Given the description of an element on the screen output the (x, y) to click on. 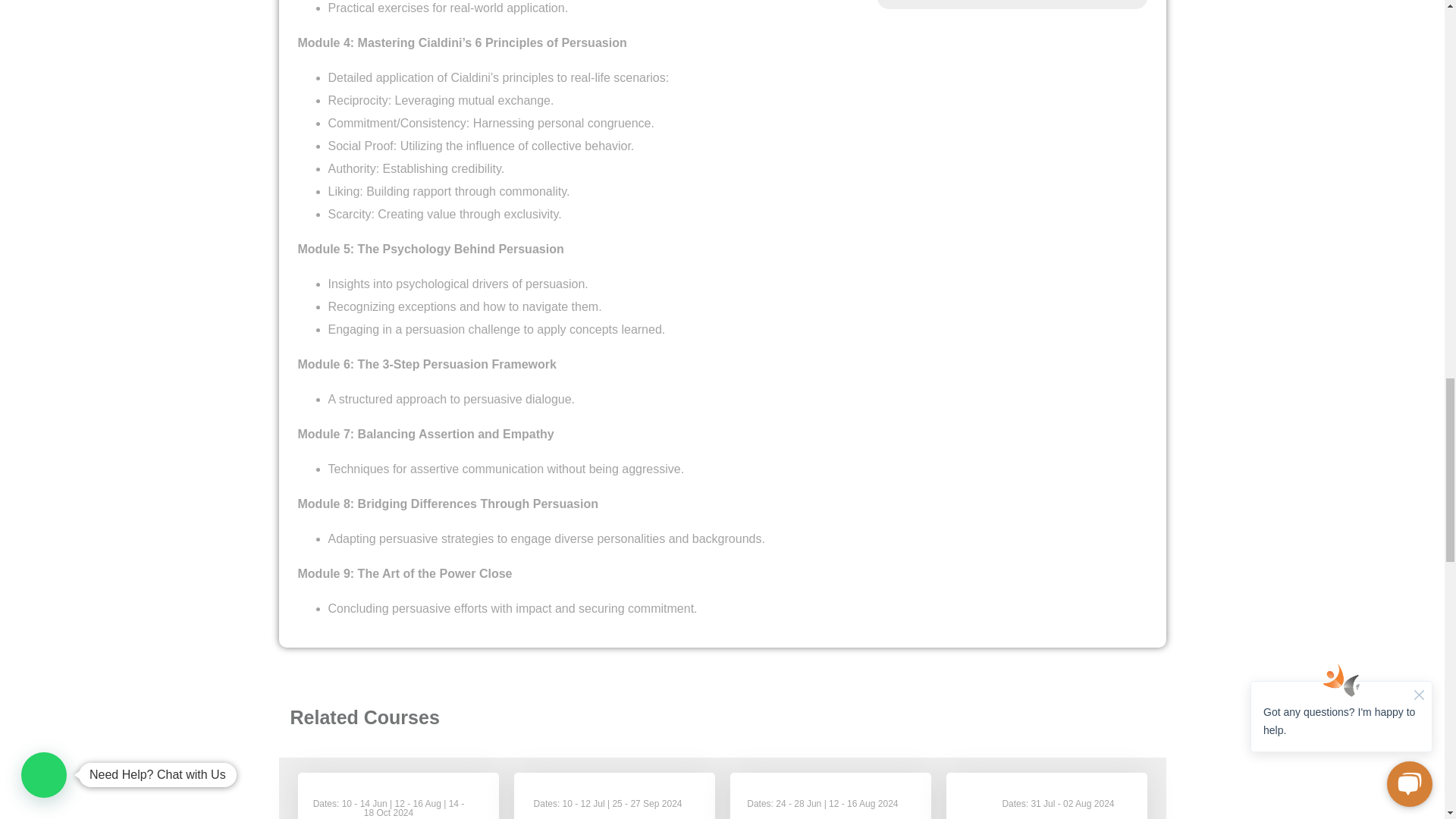
Form 0 (1012, 4)
